Given the description of an element on the screen output the (x, y) to click on. 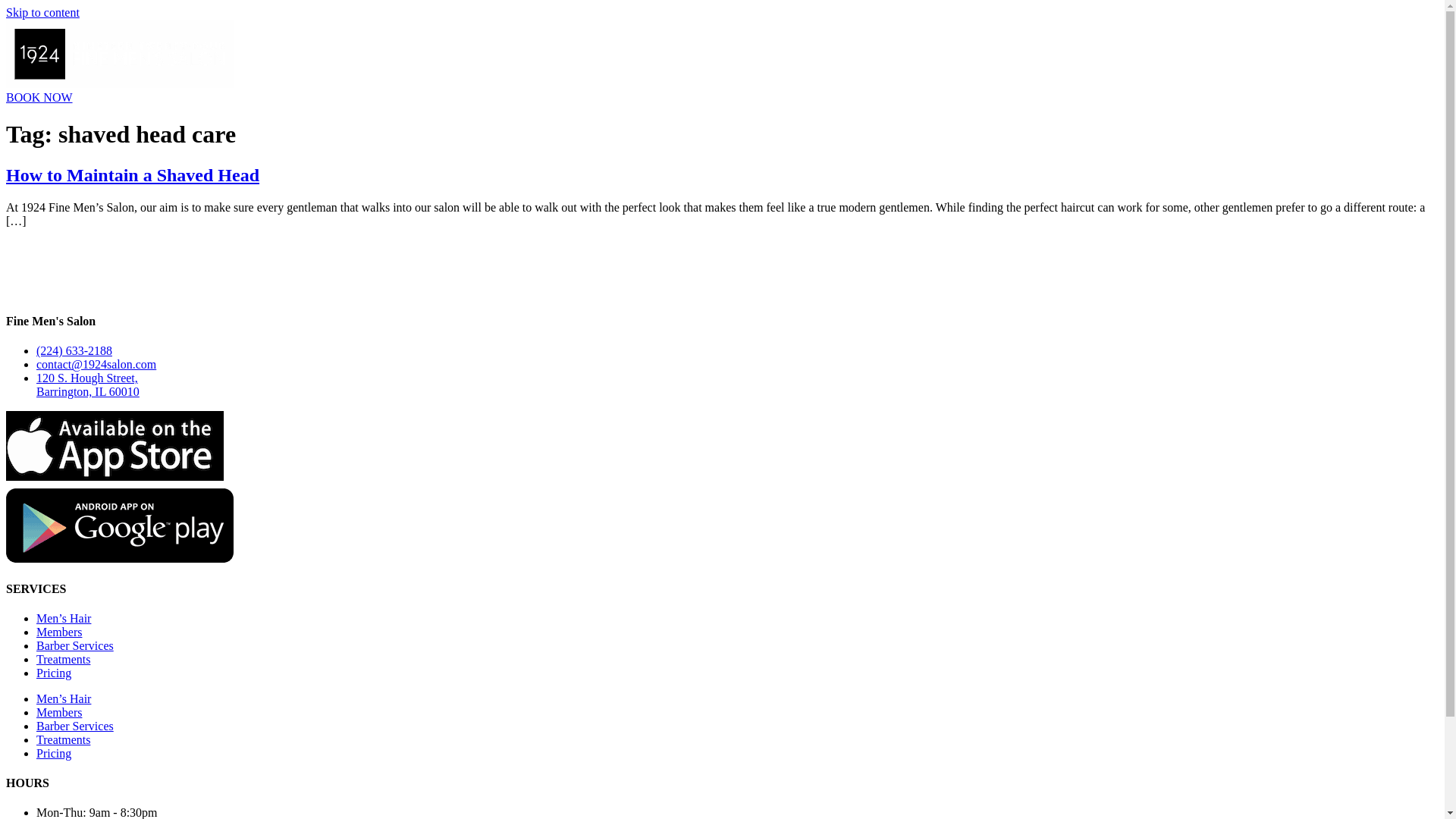
Barber Services Element type: text (74, 725)
120 S. Hough Street,
Barrington, IL 60010 Element type: text (87, 384)
Members Element type: text (58, 631)
Treatments Element type: text (63, 739)
Treatments Element type: text (63, 658)
contact@1924salon.com Element type: text (96, 363)
Pricing Element type: text (53, 672)
Members Element type: text (58, 712)
BOOK NOW Element type: text (39, 97)
How to Maintain a Shaved Head Element type: text (132, 175)
(224) 633-2188 Element type: text (74, 350)
Skip to content Element type: text (42, 12)
Barber Services Element type: text (74, 645)
Pricing Element type: text (53, 752)
